Given the description of an element on the screen output the (x, y) to click on. 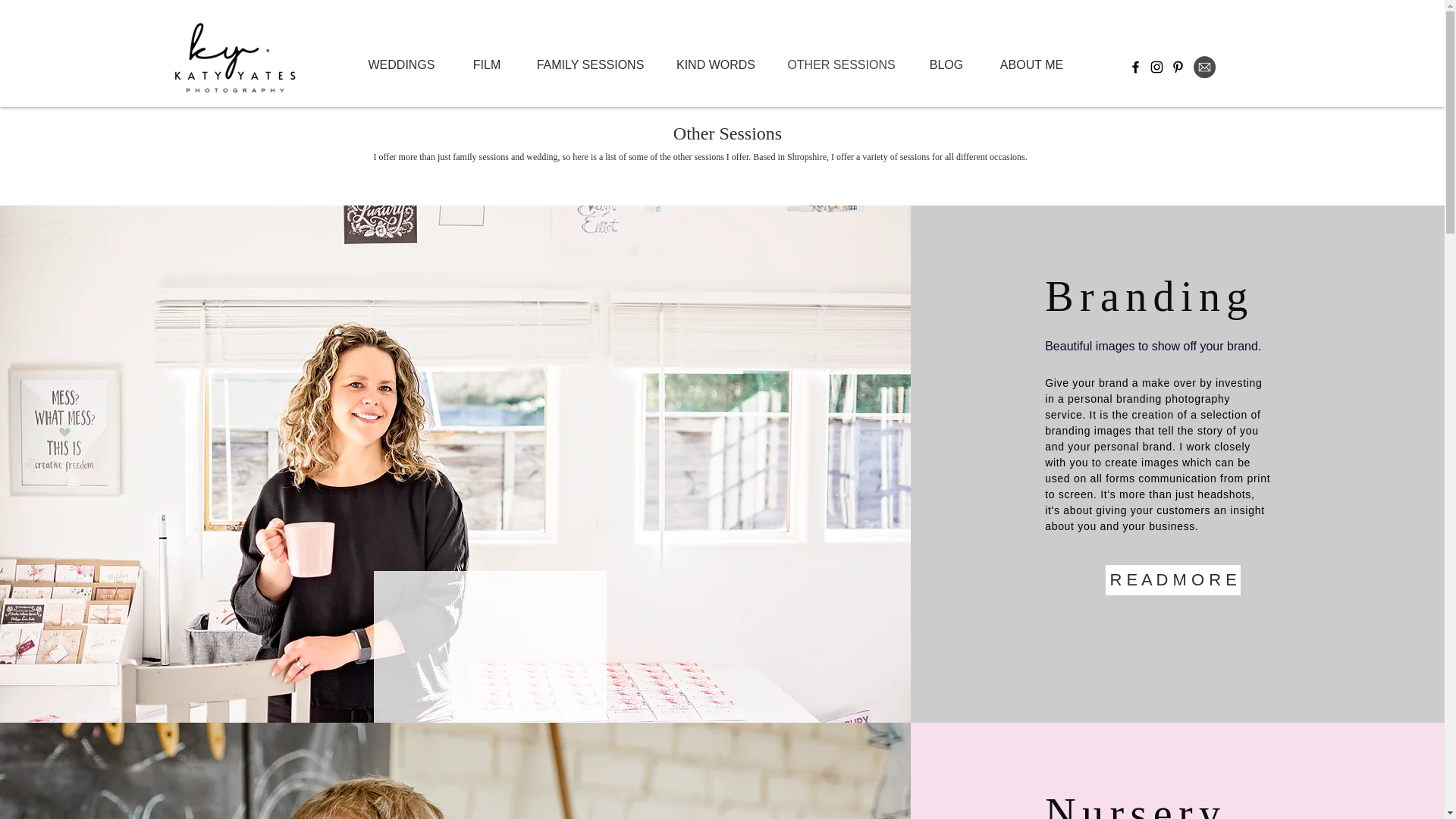
Beige Classy Modern Initials Name Logo.p (229, 62)
ABOUT ME (1031, 63)
BLOG (945, 63)
R E A D M O R E (1172, 580)
FAMILY SESSIONS (590, 63)
OTHER SESSIONS (840, 63)
WEDDINGS (400, 63)
FILM (486, 63)
KIND WORDS (716, 63)
